Given the description of an element on the screen output the (x, y) to click on. 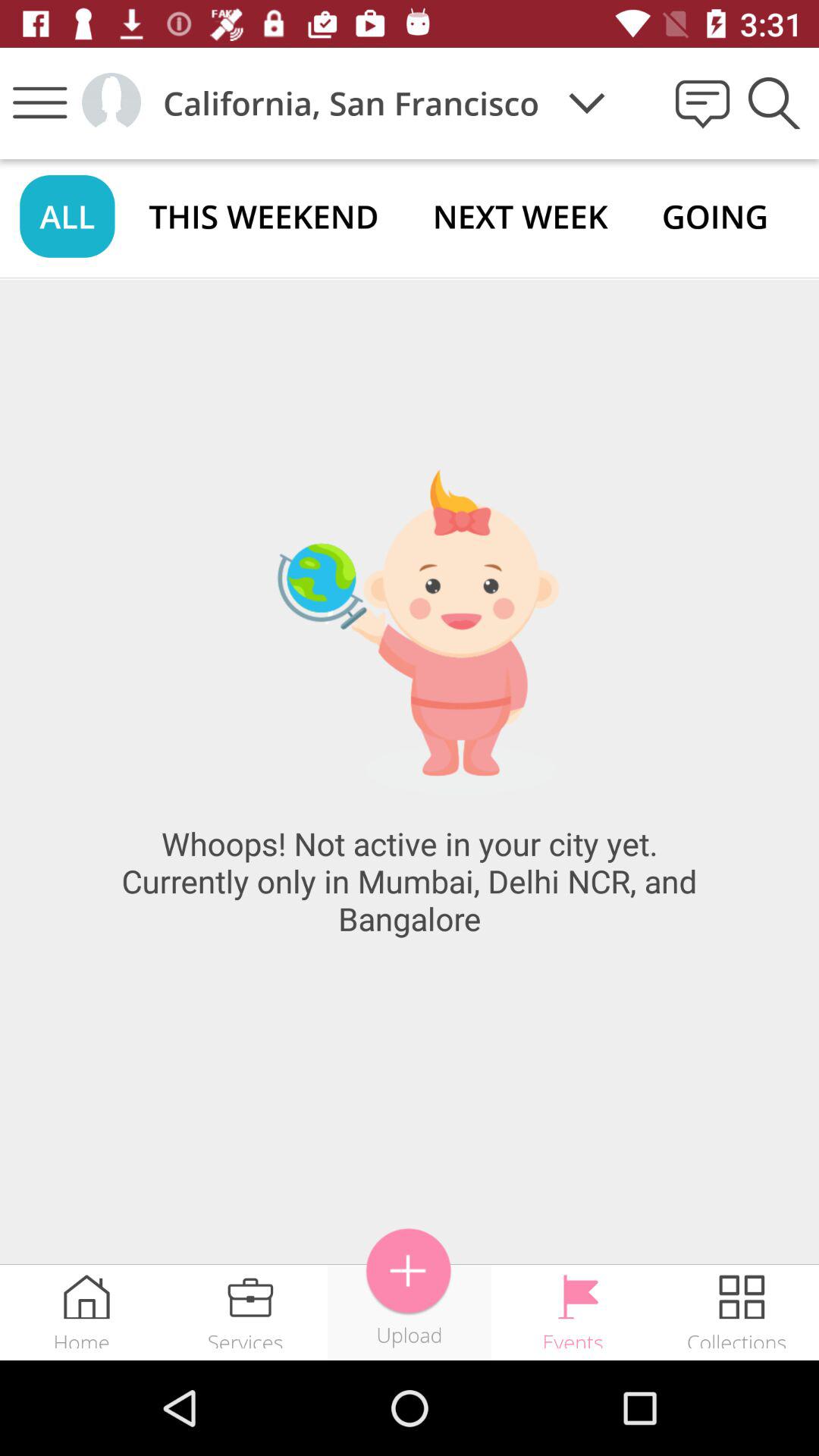
review profile (111, 102)
